Given the description of an element on the screen output the (x, y) to click on. 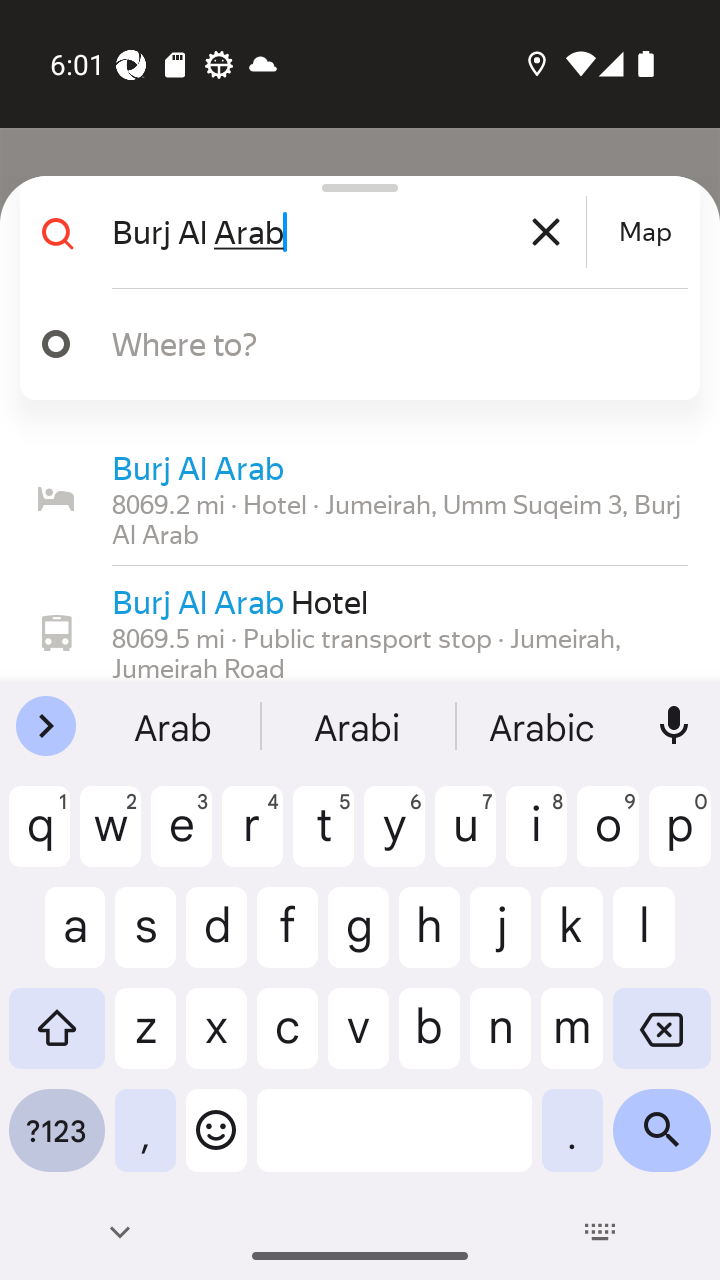
Burj Al Arab Clear text box Map Map (352, 232)
Map (645, 232)
Clear text box (546, 231)
Burj Al Arab (346, 232)
Where to? (352, 343)
Where to? (373, 343)
